Given the description of an element on the screen output the (x, y) to click on. 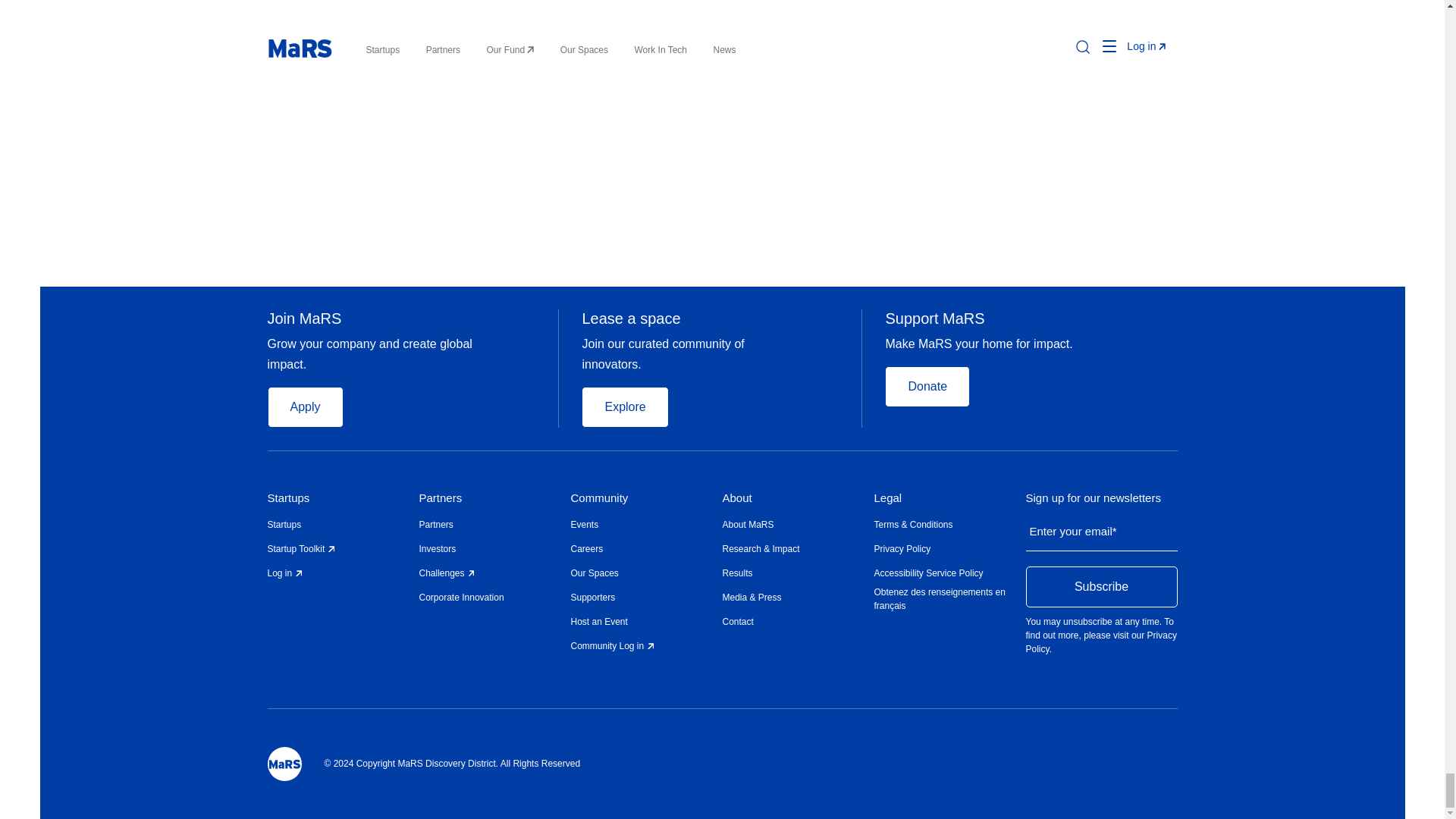
Subscribe (1100, 586)
